Given the description of an element on the screen output the (x, y) to click on. 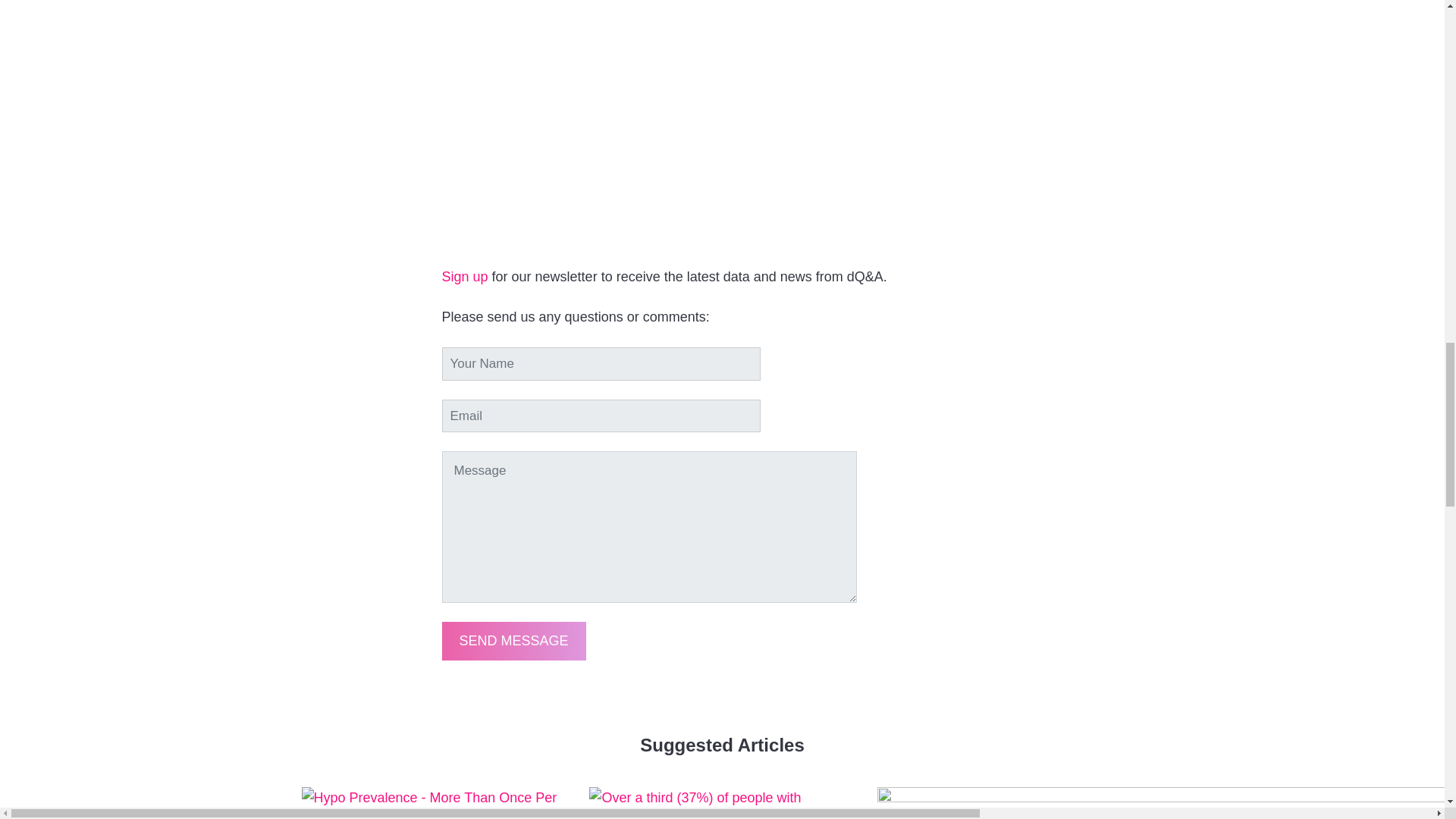
SEND MESSAGE (513, 640)
SEND MESSAGE (513, 640)
Sign up (464, 276)
